Given the description of an element on the screen output the (x, y) to click on. 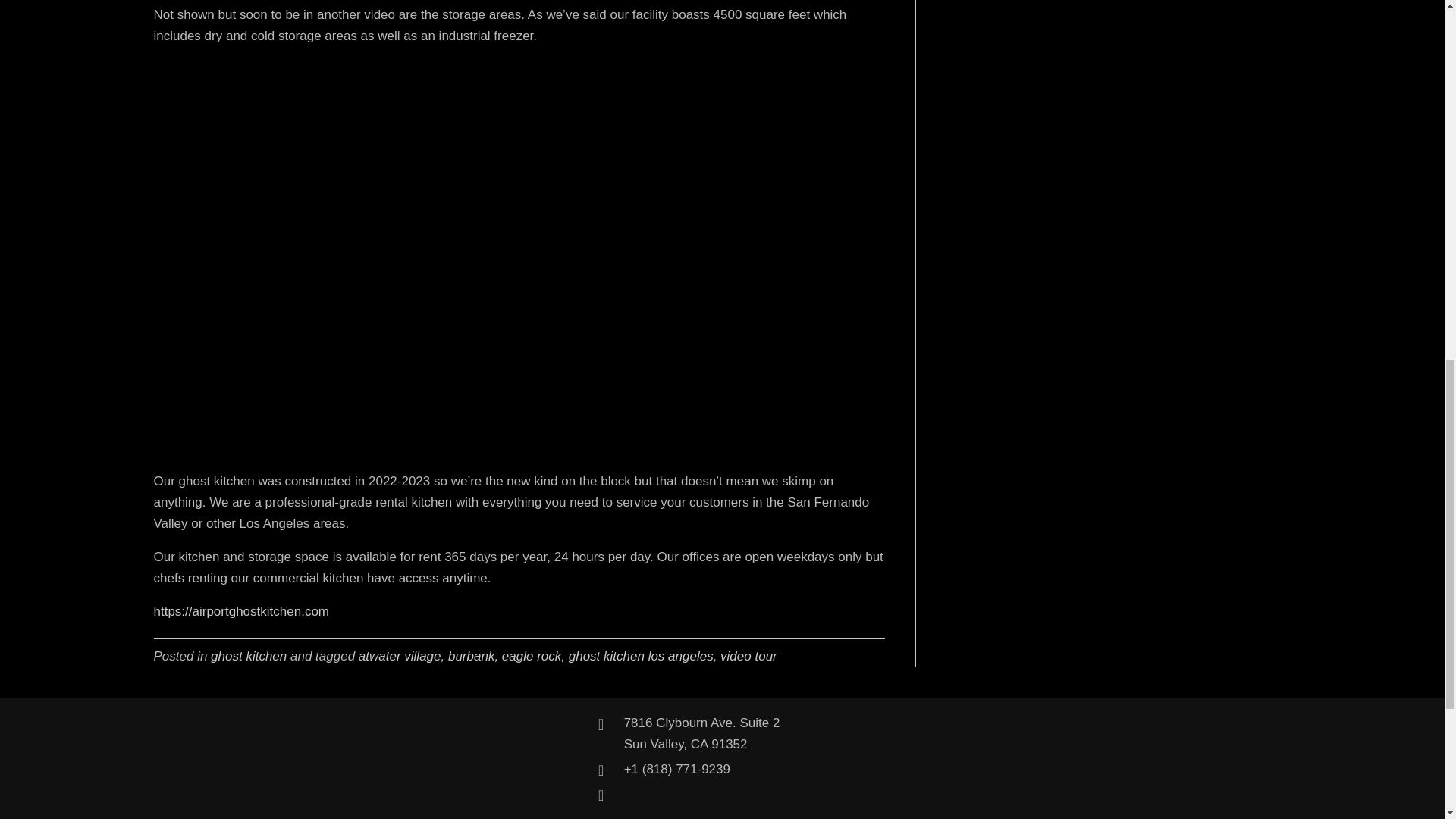
atwater village (399, 656)
video tour (748, 656)
eagle rock (531, 656)
burbank (471, 656)
ghost kitchen los angeles (702, 733)
ghost kitchen (641, 656)
